Given the description of an element on the screen output the (x, y) to click on. 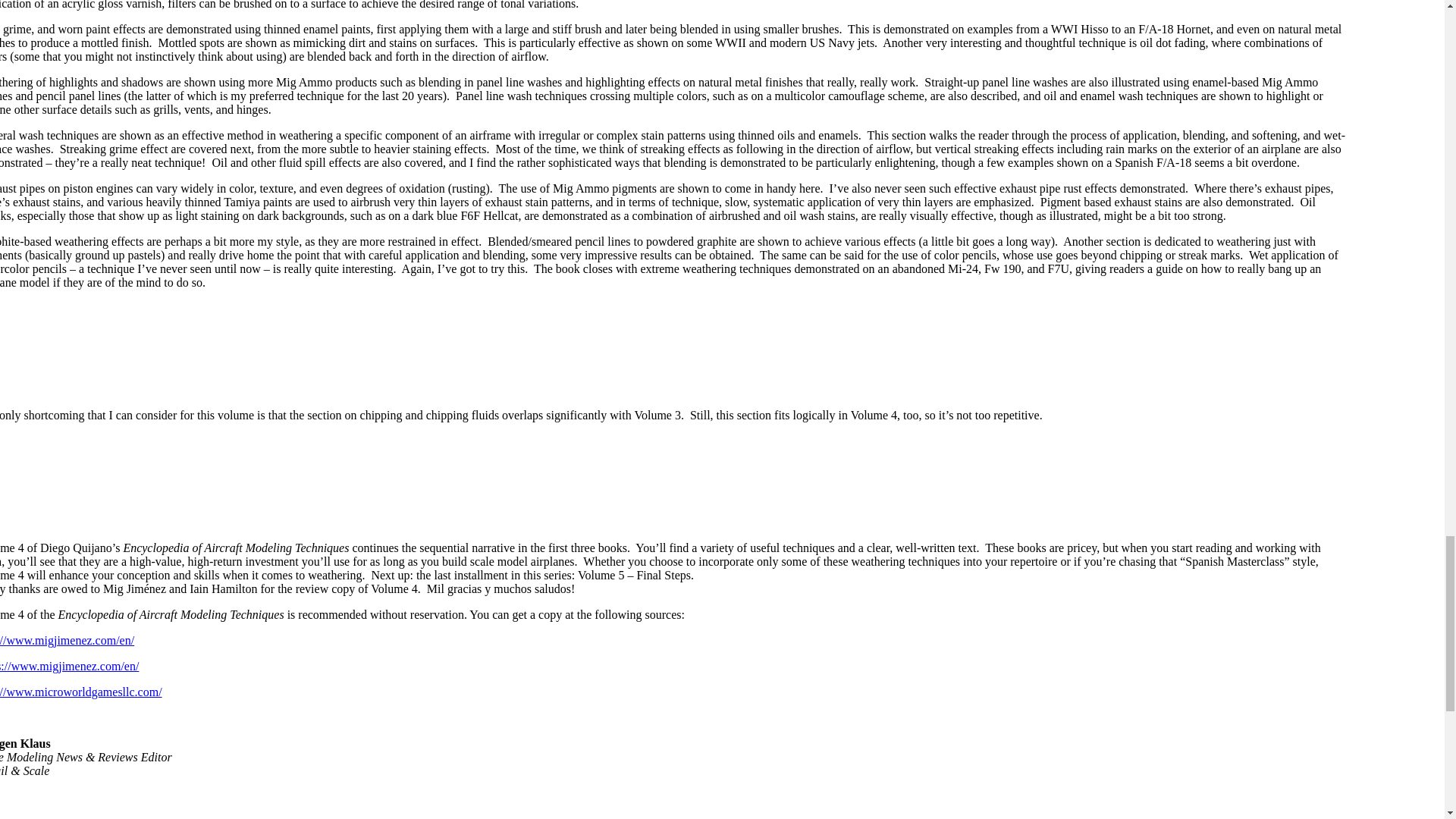
Final Thoughts Banner-1 (662, 480)
Shortcomings Banner (662, 347)
Photo Banner (662, 804)
